Given the description of an element on the screen output the (x, y) to click on. 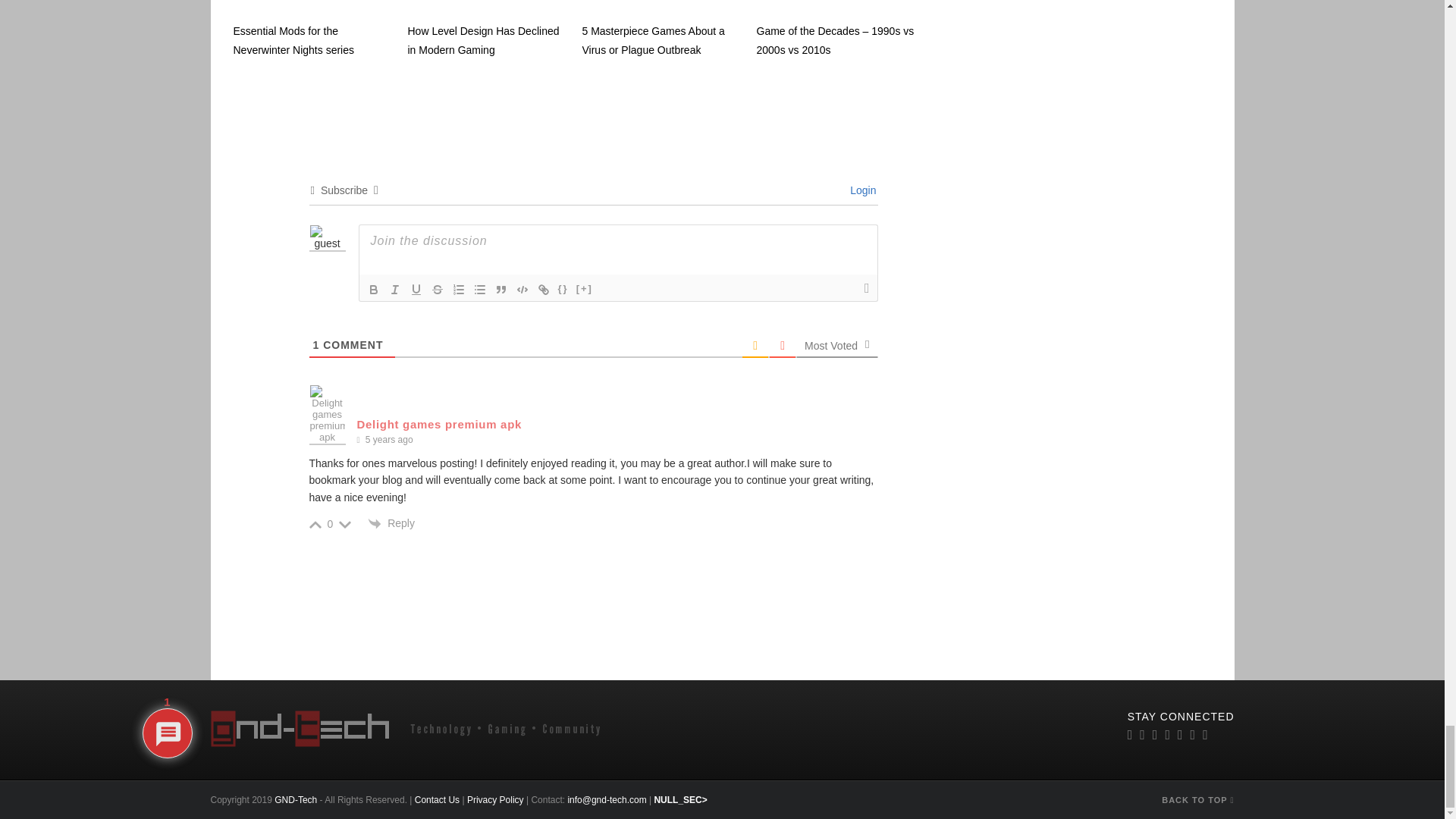
Bold (373, 289)
Unordered List (478, 289)
Blockquote (500, 289)
Underline (415, 289)
Ordered List (457, 289)
Italic (394, 289)
Strike (436, 289)
